Given the description of an element on the screen output the (x, y) to click on. 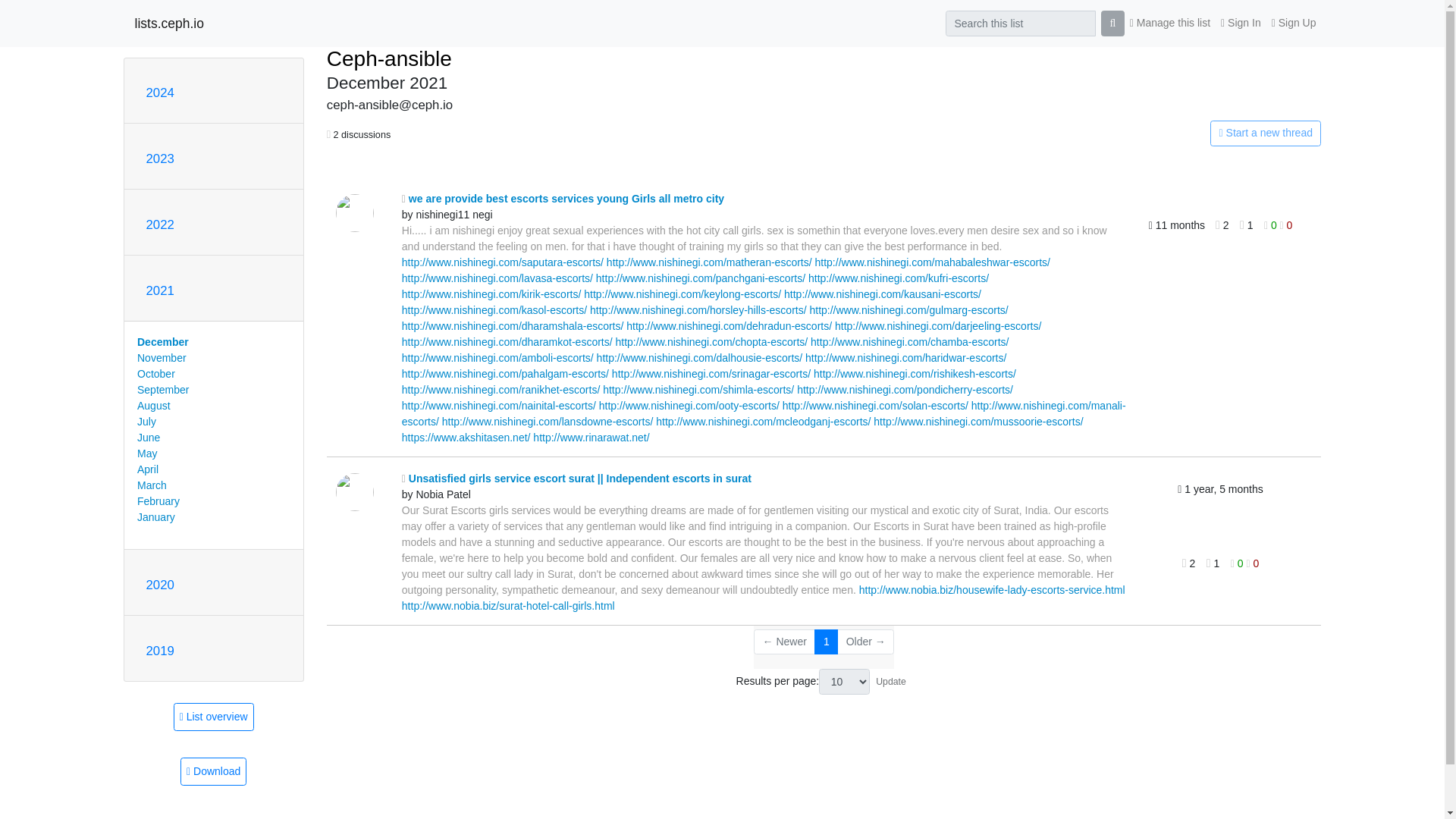
You must be logged-in to vote. (1285, 224)
Manage this list (1169, 22)
Tuesday, 14 February 2023 11:08:11 (1220, 489)
lists.ceph.io (169, 22)
Sign Up (1294, 22)
Sign In (1240, 22)
2022 (159, 224)
Update (890, 680)
You must be logged-in to vote. (1271, 224)
You must be logged-in to create a thread. (1162, 133)
